Given the description of an element on the screen output the (x, y) to click on. 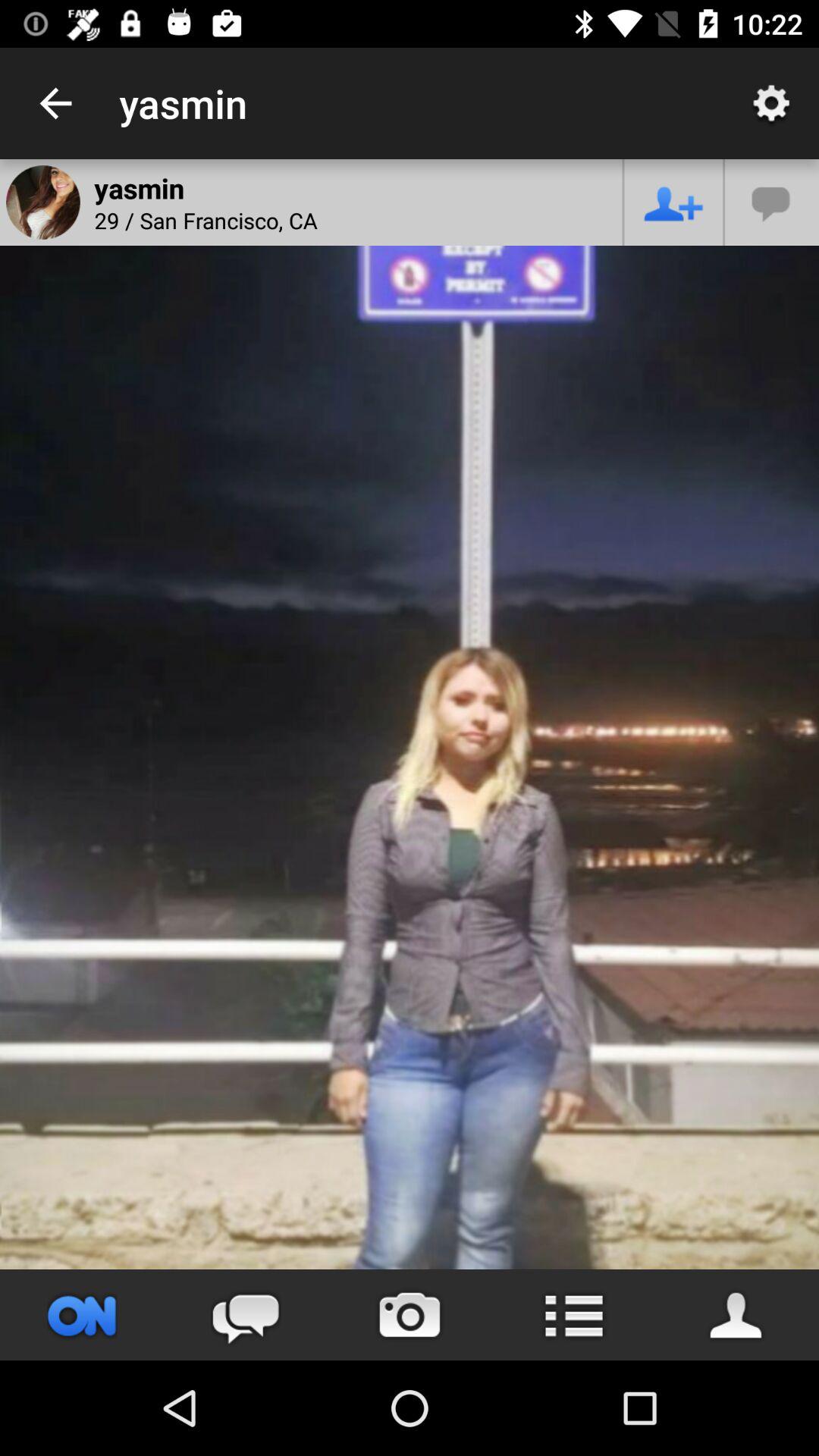
take photo (409, 1315)
